Given the description of an element on the screen output the (x, y) to click on. 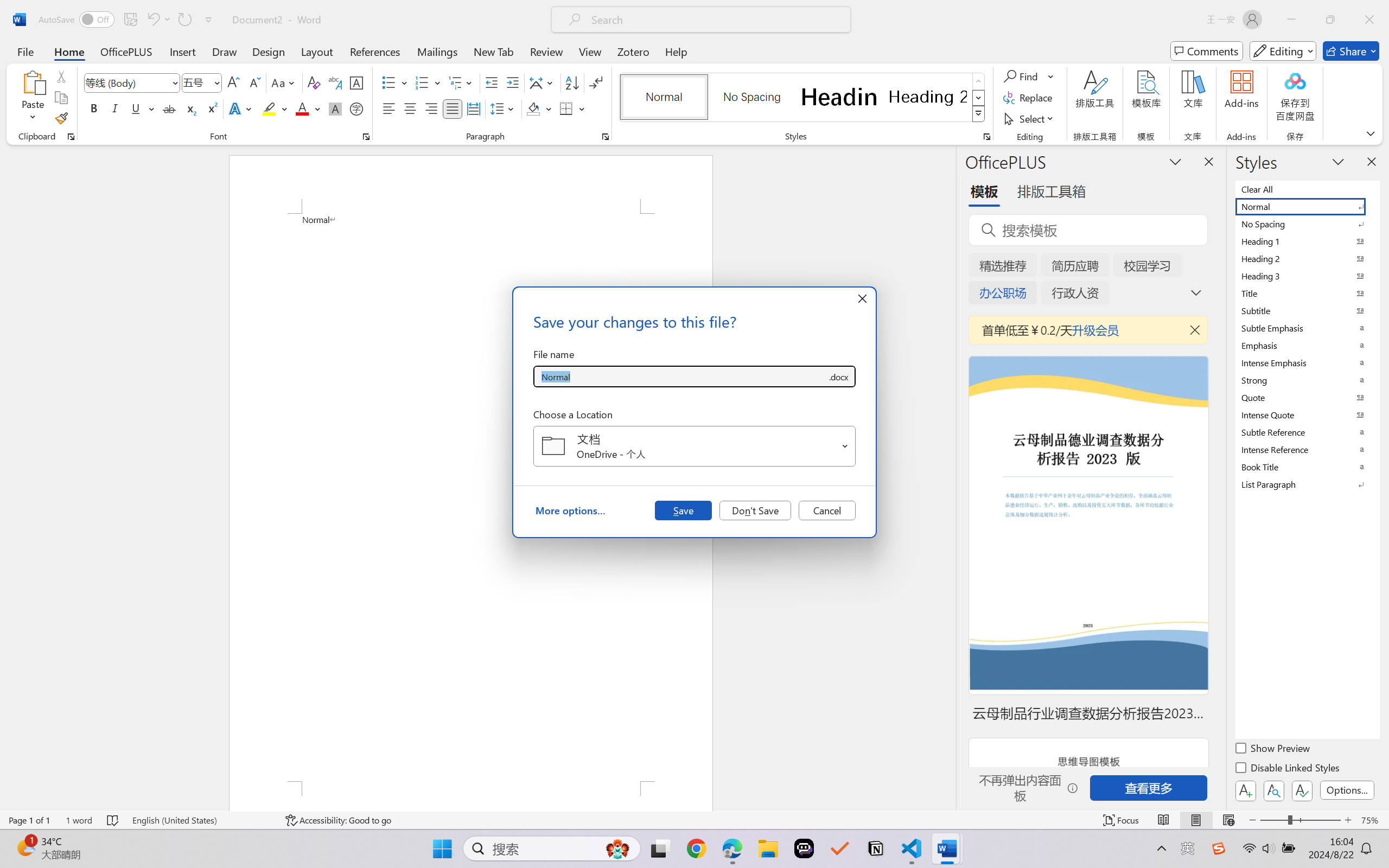
Strikethrough (169, 108)
Class: NetUIScrollBar (948, 477)
Save (682, 509)
Font Color Red (302, 108)
Quote (1306, 397)
Enclose Characters... (356, 108)
AutomationID: QuickStylesGallery (802, 97)
Paste (33, 97)
Show/Hide Editing Marks (595, 82)
Microsoft search (715, 19)
Don't Save (755, 509)
